Given the description of an element on the screen output the (x, y) to click on. 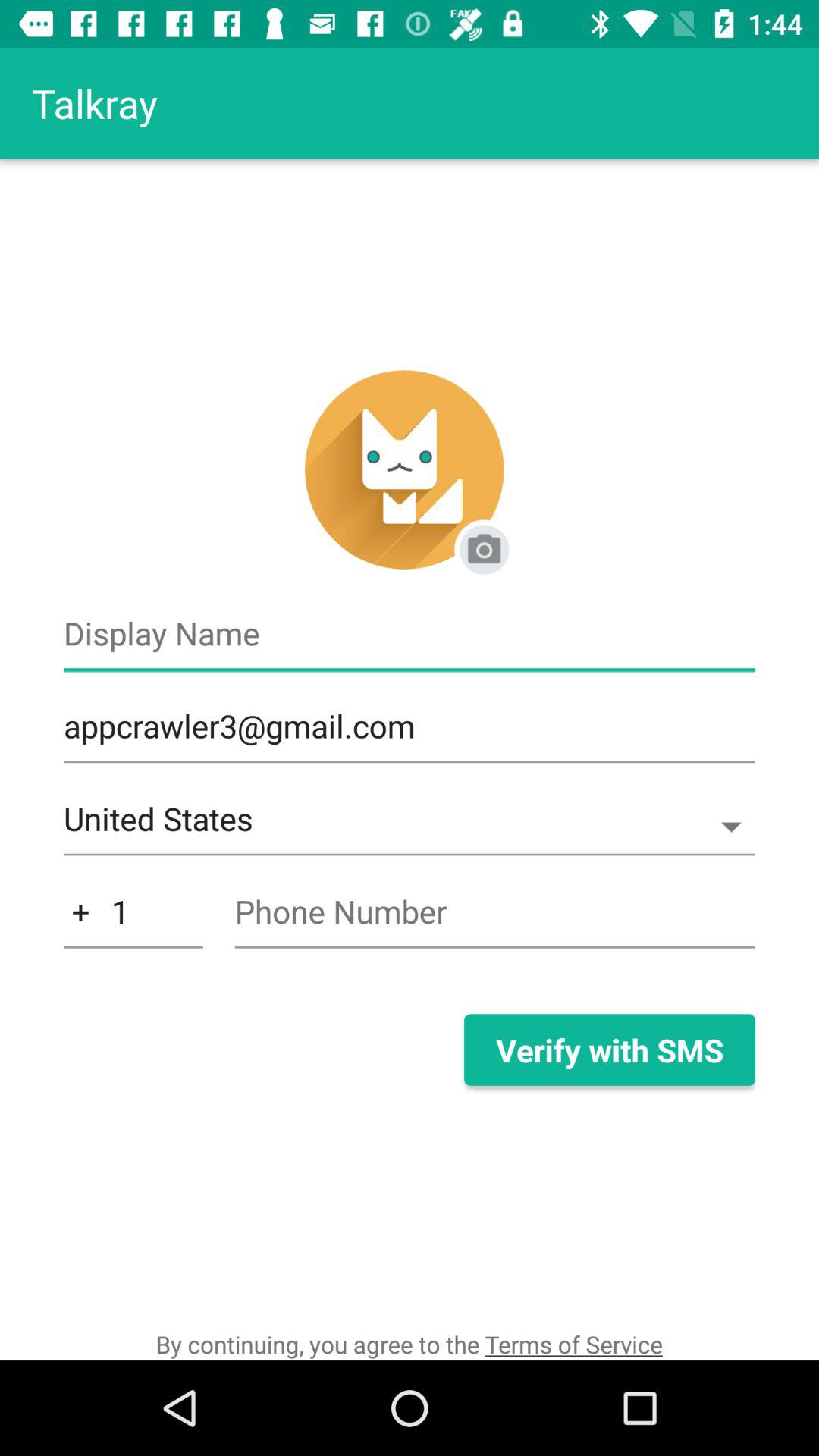
jump to 1 item (133, 919)
